Given the description of an element on the screen output the (x, y) to click on. 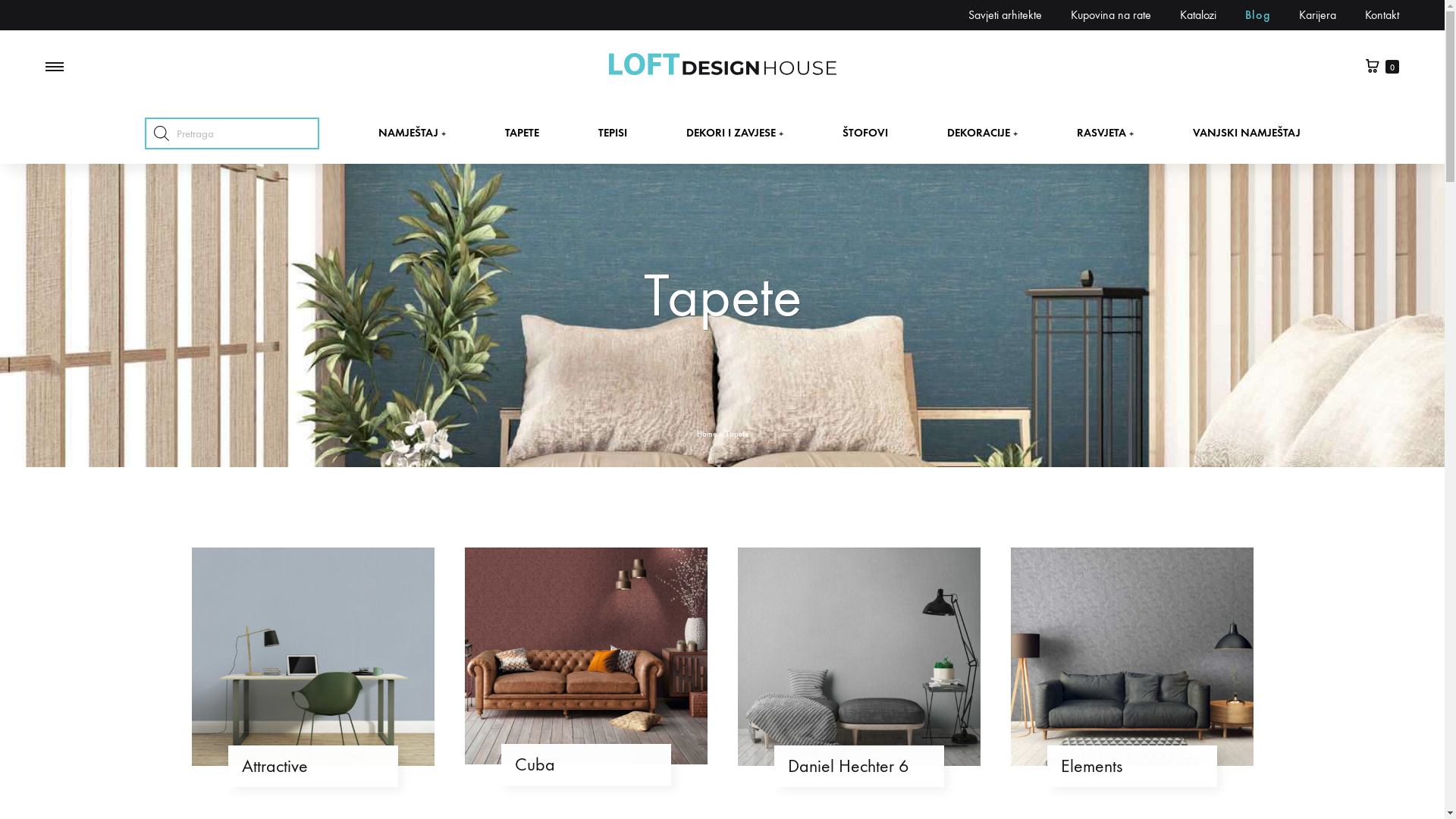
Karijera Element type: text (1317, 15)
Daniel Hechter 6 Element type: text (858, 766)
0 Element type: text (1381, 65)
Savjeti arhitekte Element type: text (1004, 15)
Attractive Element type: text (312, 766)
DEKORI I ZAVJESE+ Element type: text (733, 132)
Blog Element type: text (1257, 15)
Home Element type: text (705, 434)
TEPISI Element type: text (611, 132)
DEKORACIJE+ Element type: text (981, 132)
Cuba Element type: text (585, 764)
Kontakt Element type: text (1382, 15)
Kupovina na rate Element type: text (1110, 15)
TAPETE Element type: text (522, 132)
Elements Element type: text (1131, 766)
Katalozi Element type: text (1197, 15)
RASVJETA+ Element type: text (1104, 132)
